Given the description of an element on the screen output the (x, y) to click on. 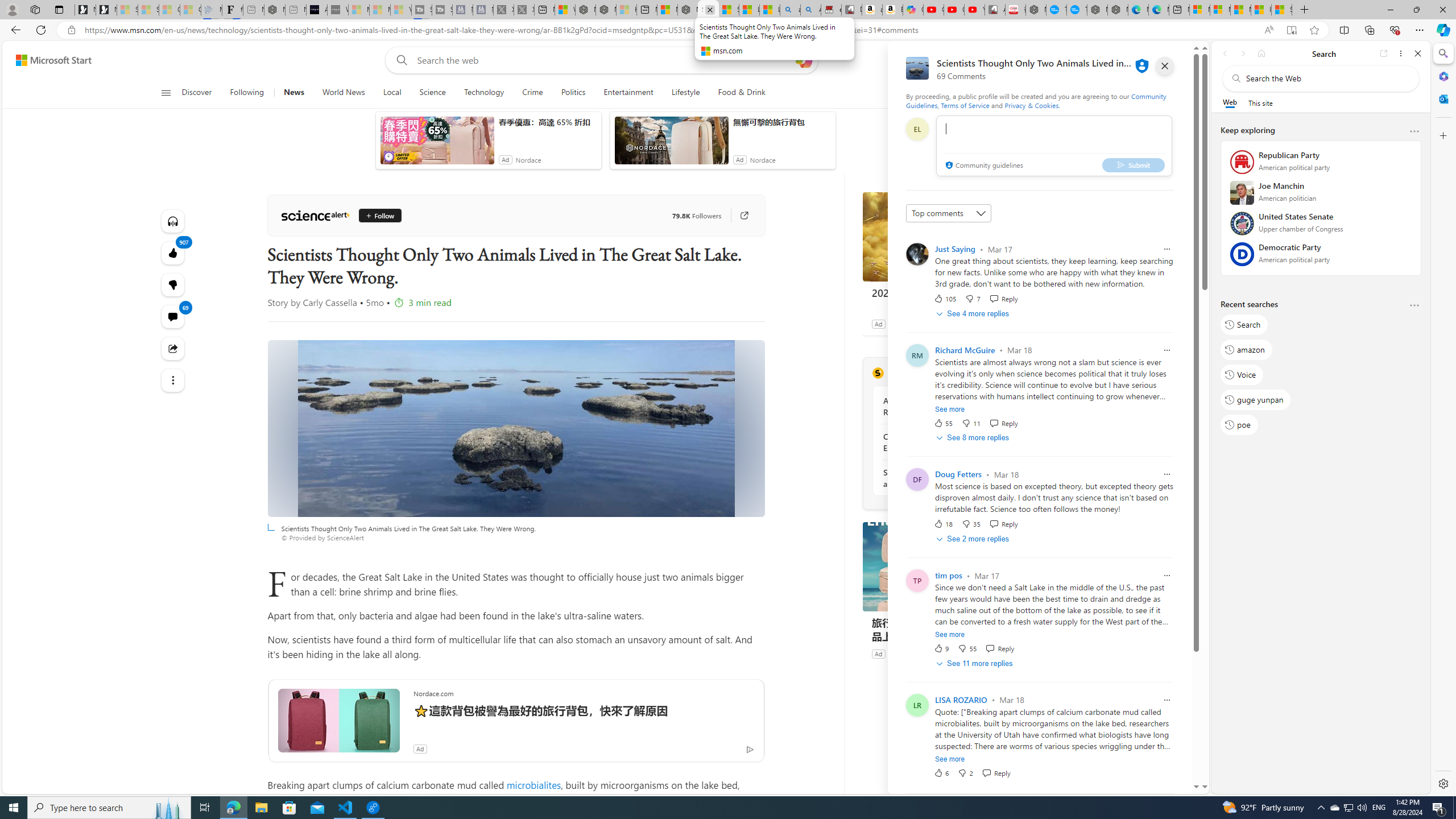
Search (1244, 324)
Browser essentials (1394, 29)
Listen to this article (172, 220)
Wildlife - MSN (564, 9)
View comments 69 Comment (172, 316)
Nordace (901, 653)
Entertainment (627, 92)
Notifications (1152, 60)
poe (1238, 424)
Streaming Coverage | T3 - Sleeping (421, 9)
Food & Drink (737, 92)
Entertainment (628, 92)
